Given the description of an element on the screen output the (x, y) to click on. 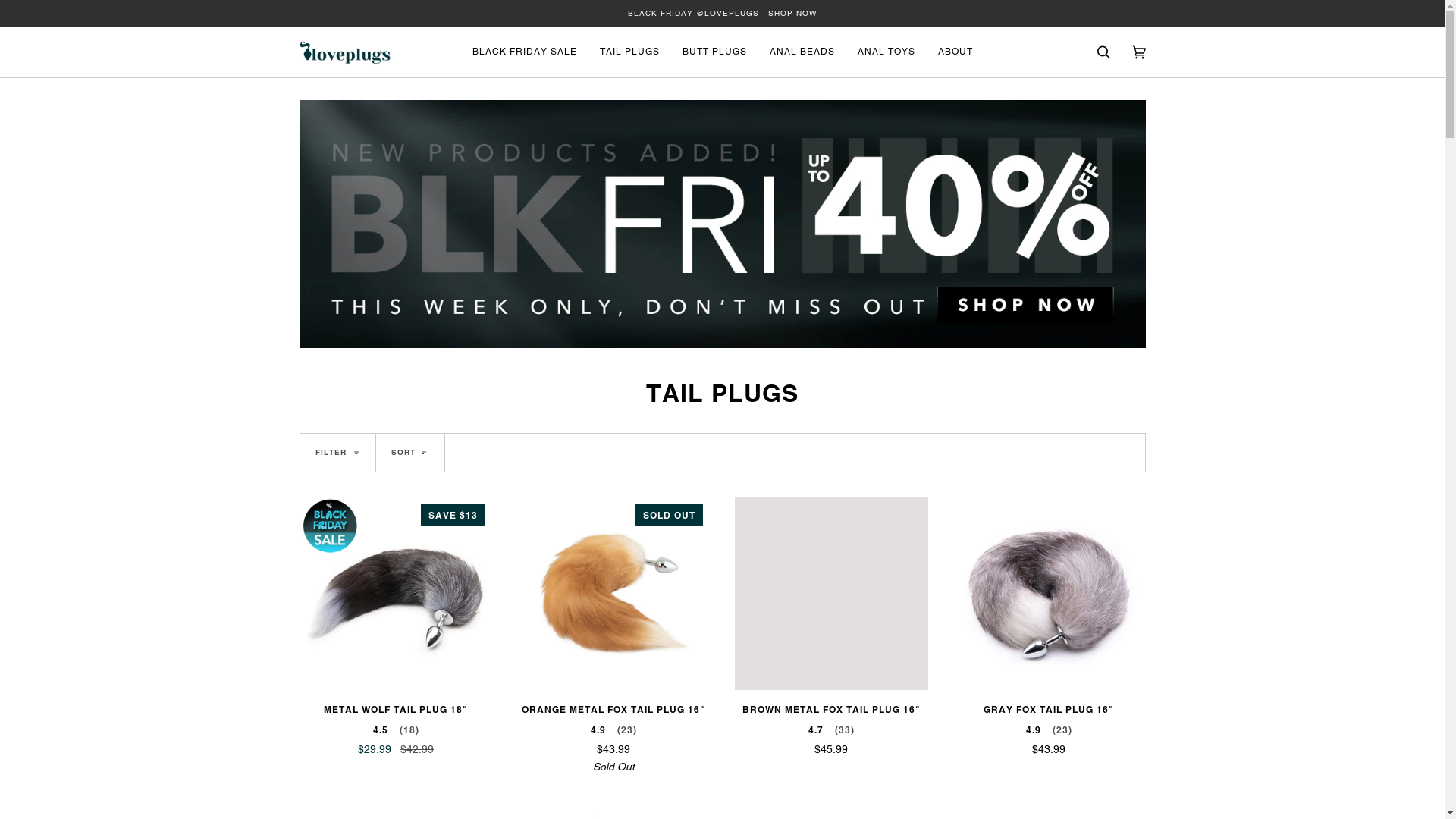
METAL WOLF TAIL PLUG 18"
4.5
(18)
$29.99 $42.99 Element type: text (395, 726)
BUTT PLUGS Element type: text (713, 52)
BLACK FRIDAY @LOVEPLUGS - SHOP NOW Element type: text (721, 13)
BROWN METAL FOX TAIL PLUG 16"
4.7
(33)
$45.99 Element type: text (830, 726)
SORT Element type: text (410, 452)
SAVE $13 Element type: text (395, 593)
Search Element type: text (1103, 52)
ORANGE METAL FOX TAIL PLUG 16"
4.9
(23)
$43.99
Sold Out Element type: text (613, 735)
GRAY FOX TAIL PLUG 16"
4.9
(23)
$43.99 Element type: text (1048, 726)
Cart
(0) Element type: text (1138, 52)
BLACK FRIDAY SALE Element type: text (524, 52)
TAIL PLUGS Element type: text (629, 52)
ANAL BEADS Element type: text (802, 52)
SOLD OUT Element type: text (613, 593)
ANAL TOYS Element type: text (886, 52)
FILTER Element type: text (338, 452)
ABOUT Element type: text (955, 52)
